Given the description of an element on the screen output the (x, y) to click on. 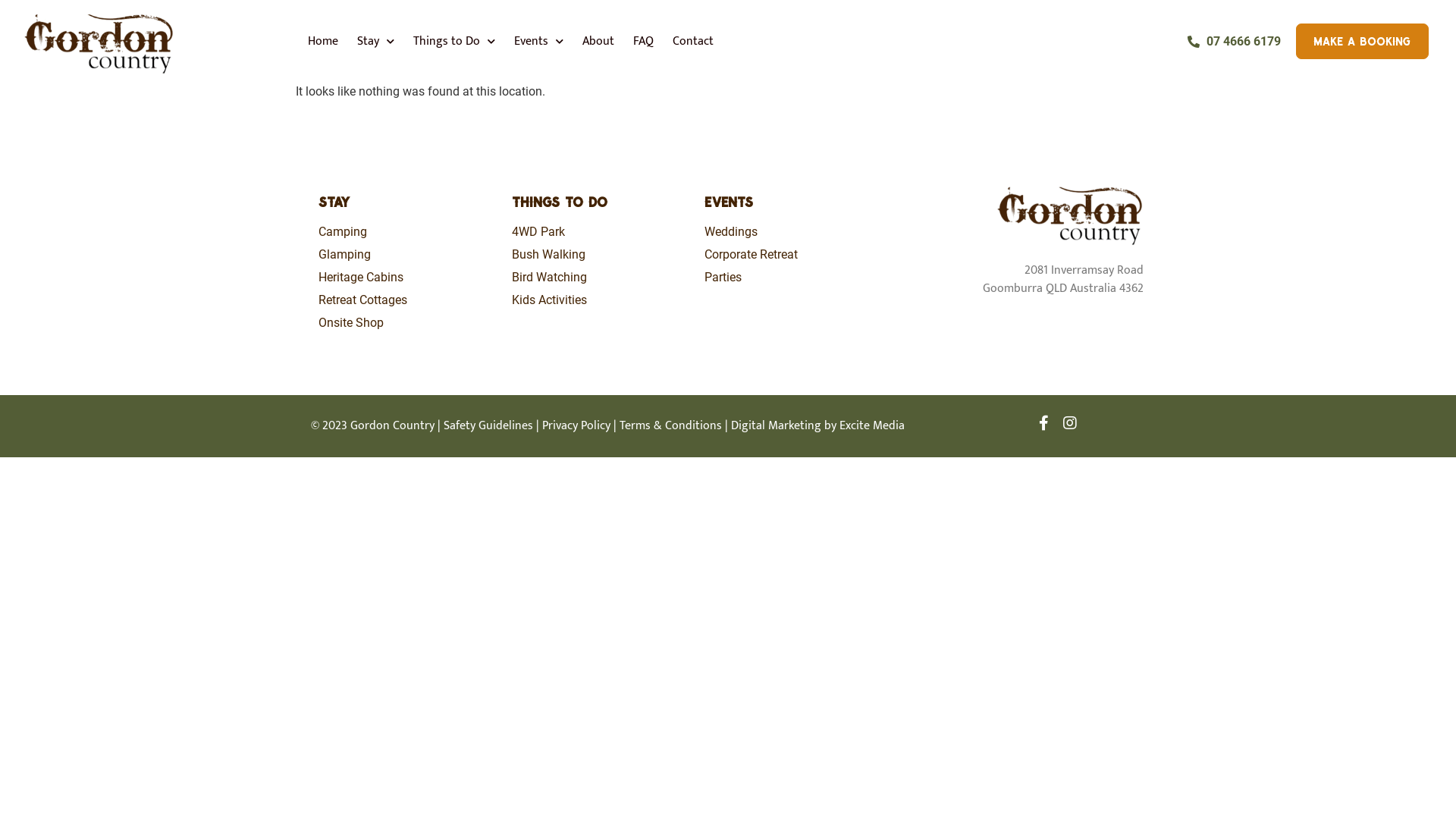
Stay Element type: text (375, 41)
Events Element type: text (538, 41)
Heritage Cabins Element type: text (407, 277)
Privacy Policy Element type: text (576, 425)
07 4666 6179 Element type: text (1233, 41)
Corporate Retreat Element type: text (793, 254)
Things to Do Element type: text (454, 41)
Bird Watching Element type: text (600, 277)
Contact Element type: text (692, 41)
Weddings Element type: text (793, 231)
FAQ Element type: text (643, 41)
Kids Activities Element type: text (600, 299)
Home Element type: text (322, 41)
Excite Media Element type: text (871, 425)
Parties Element type: text (793, 277)
Bush Walking Element type: text (600, 254)
Onsite Shop Element type: text (407, 322)
4WD Park Element type: text (600, 231)
Terms & Conditions Element type: text (670, 425)
Goomburra QLD Australia 4362 Element type: text (1062, 297)
MAKE A BOOKING Element type: text (1361, 41)
logo@2x Element type: hover (1069, 213)
Glamping Element type: text (407, 254)
About Element type: text (598, 41)
Retreat Cottages Element type: text (407, 299)
2081 Inverramsay Road Element type: text (1083, 270)
Safety Guidelines Element type: text (488, 425)
Camping Element type: text (407, 231)
